Given the description of an element on the screen output the (x, y) to click on. 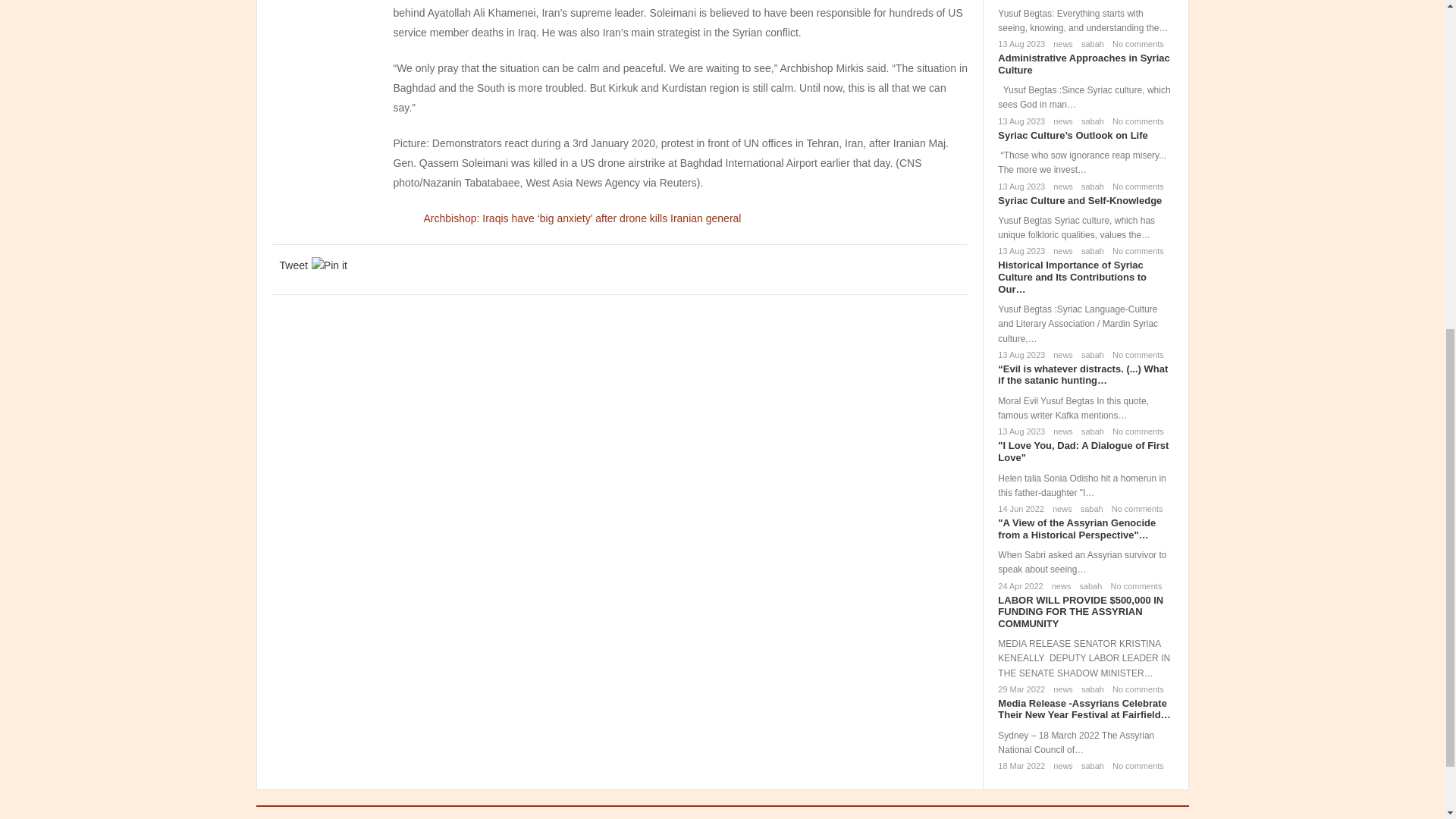
Pin it (329, 265)
Tweet (293, 265)
Administrative Approaches in Syriac Culture (1083, 64)
